Given the description of an element on the screen output the (x, y) to click on. 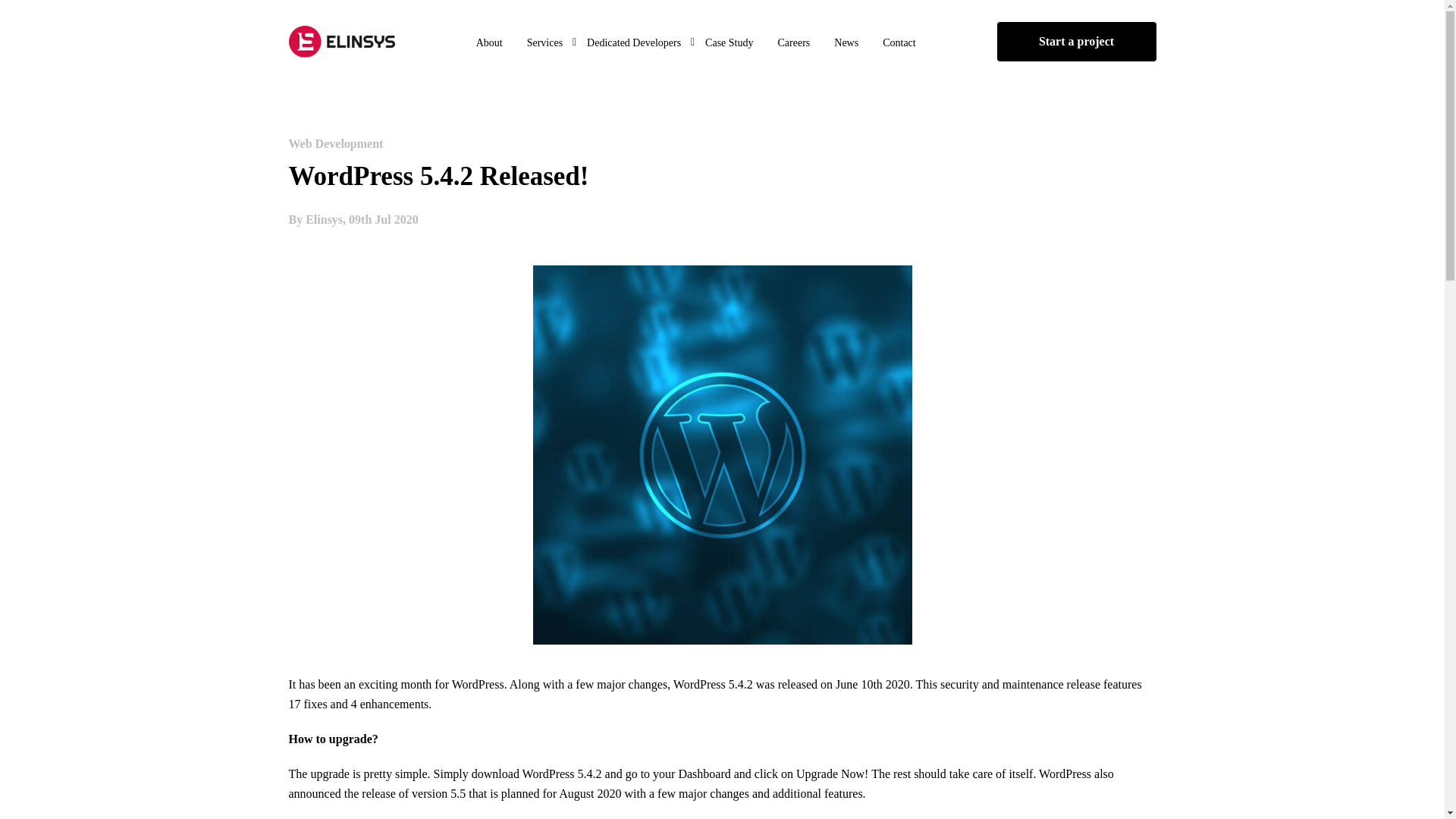
About (489, 44)
Case Study (729, 44)
Contact (899, 44)
Services (544, 44)
Start a project (1075, 41)
News (845, 44)
Careers (793, 44)
Dedicated Developers (633, 44)
